Given the description of an element on the screen output the (x, y) to click on. 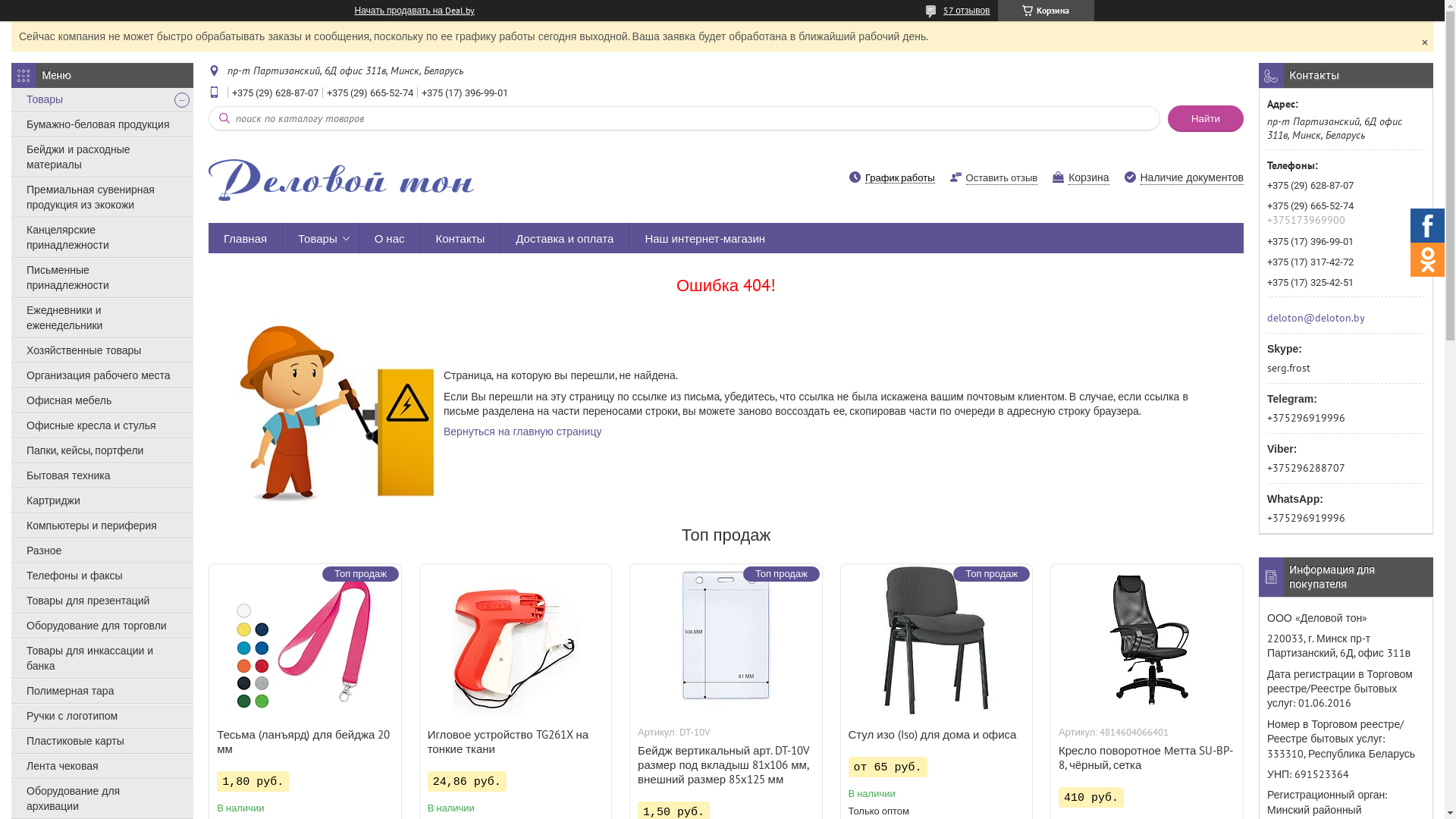
deloton@deloton.by Element type: text (1316, 316)
